Given the description of an element on the screen output the (x, y) to click on. 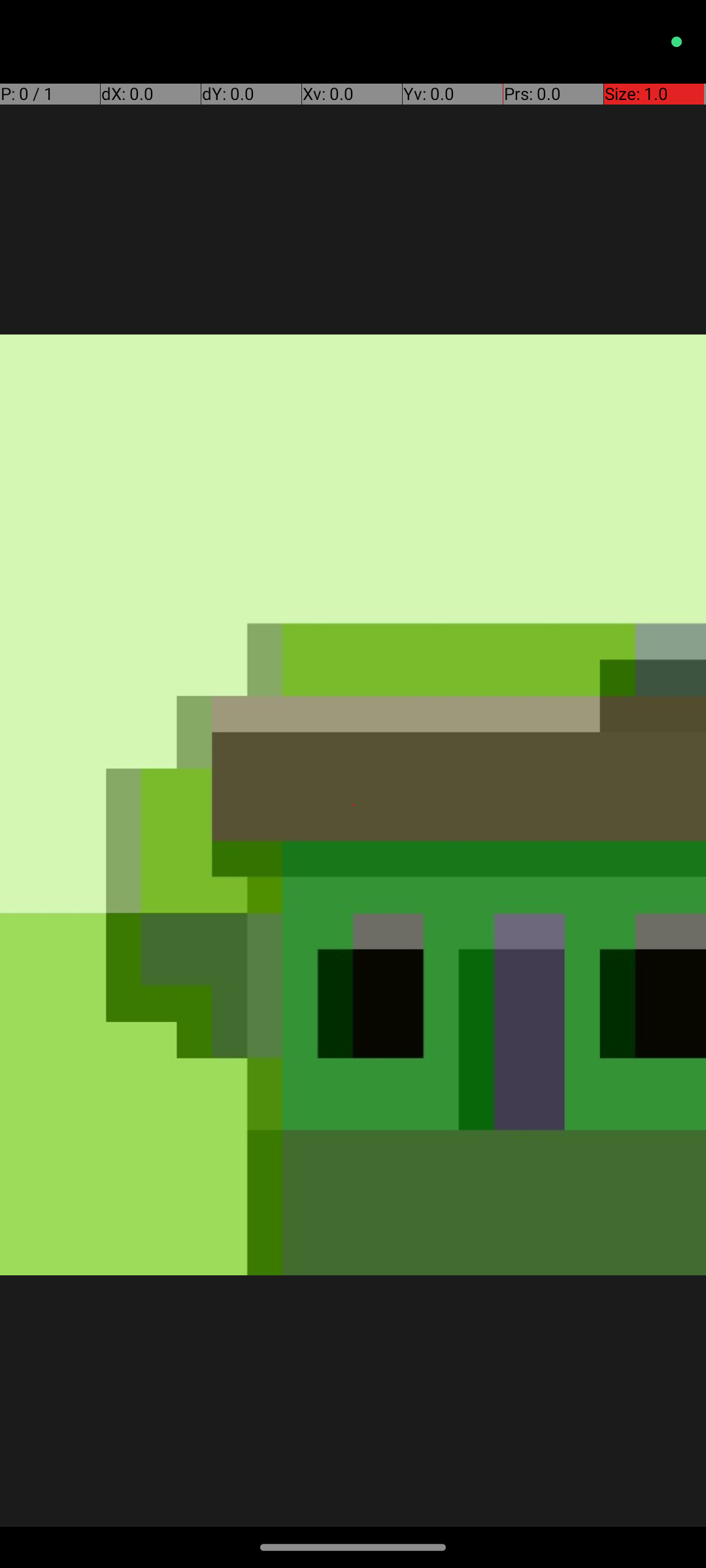
Countdown timer is off Element type: android.widget.ImageButton (197, 1258)
HDR on Element type: android.widget.ImageButton (404, 1258)
Front camera Element type: android.widget.ImageButton (507, 1258)
Photo taken on Oct 15, 2023 15:34:19 Element type: android.widget.ImageView (353, 804)
